Given the description of an element on the screen output the (x, y) to click on. 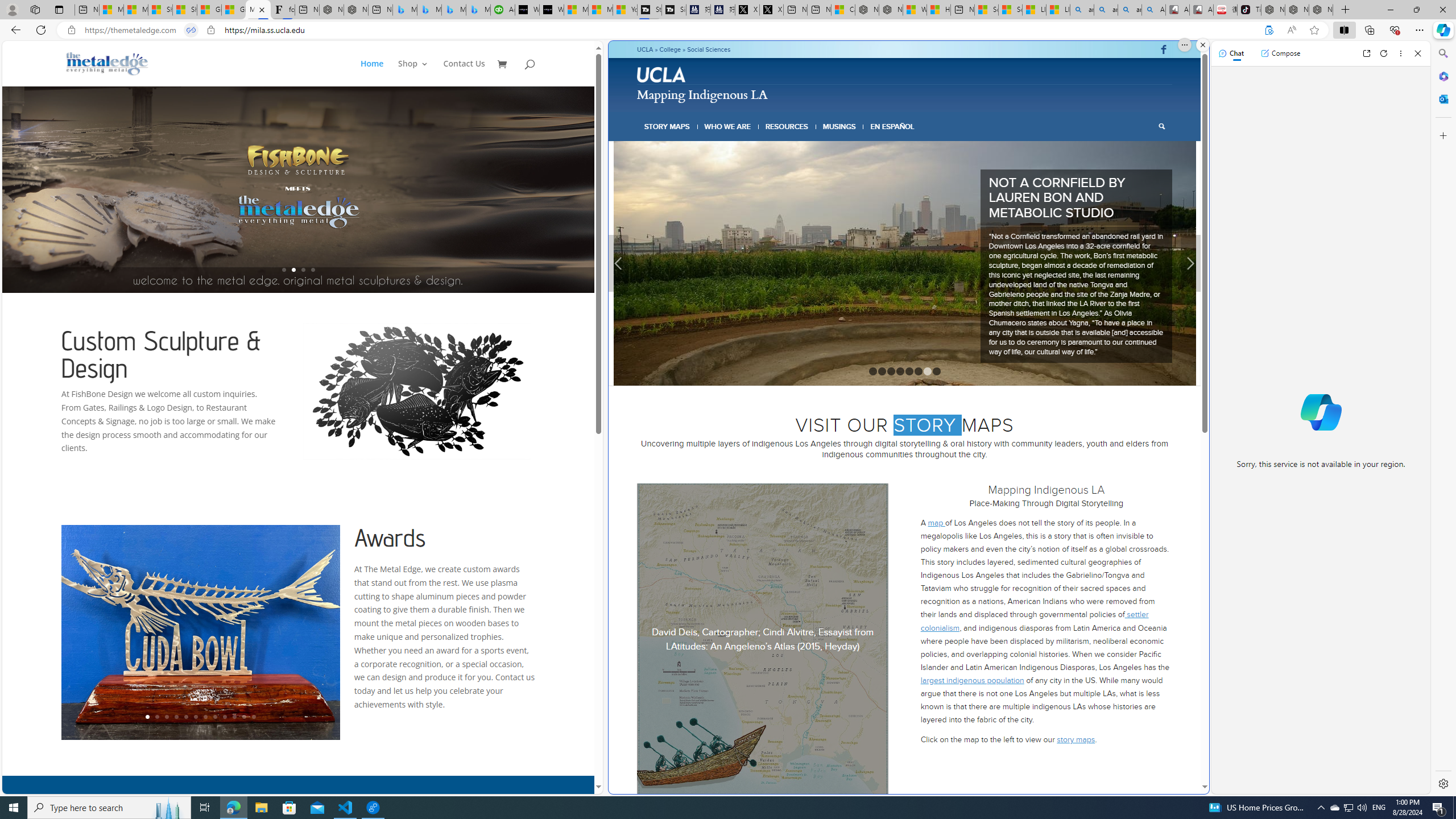
amazon - Search (1105, 9)
All Cubot phones (1201, 9)
WHO WE ARE (727, 126)
10 (233, 716)
Mapping Indigenous LA (258, 9)
Accounting Software for Accountants, CPAs and Bookkeepers (502, 9)
